Given the description of an element on the screen output the (x, y) to click on. 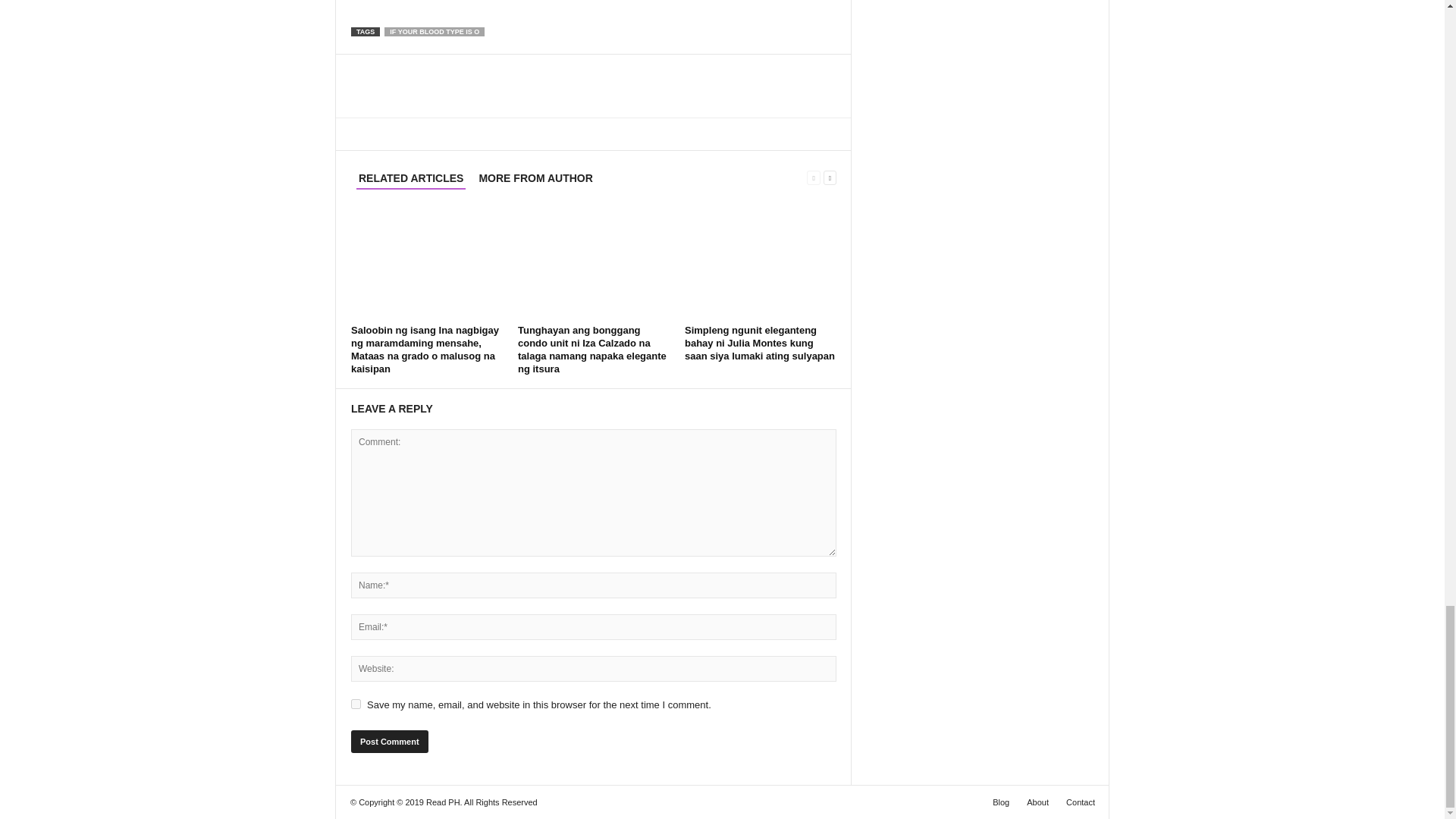
yes (355, 704)
MORE FROM AUTHOR (535, 178)
IF YOUR BLOOD TYPE IS O (434, 31)
Post Comment (389, 741)
RELATED ARTICLES (410, 178)
Post Comment (389, 741)
